Given the description of an element on the screen output the (x, y) to click on. 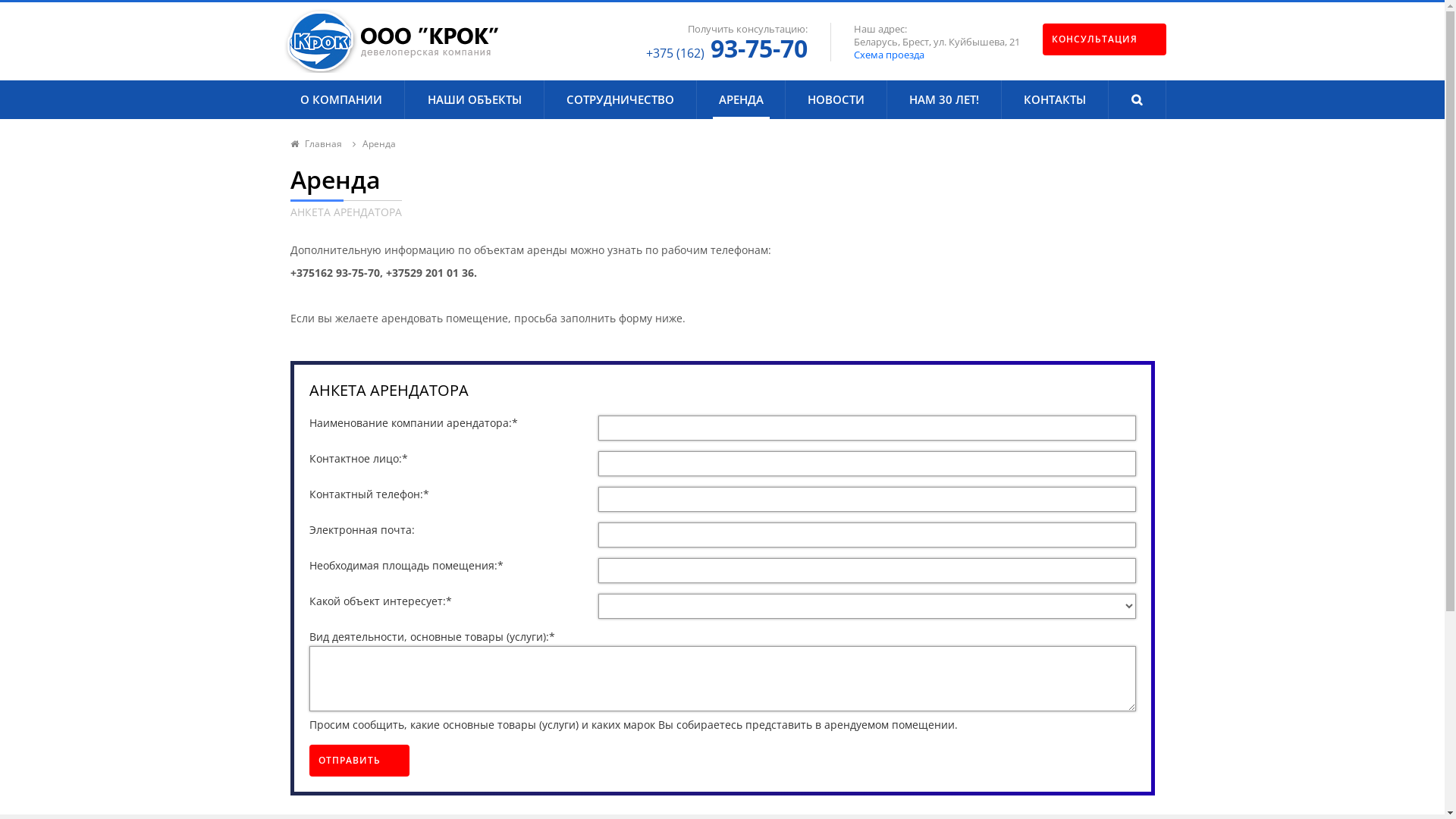
+375 (162) 93-75-70 Element type: text (726, 47)
